Given the description of an element on the screen output the (x, y) to click on. 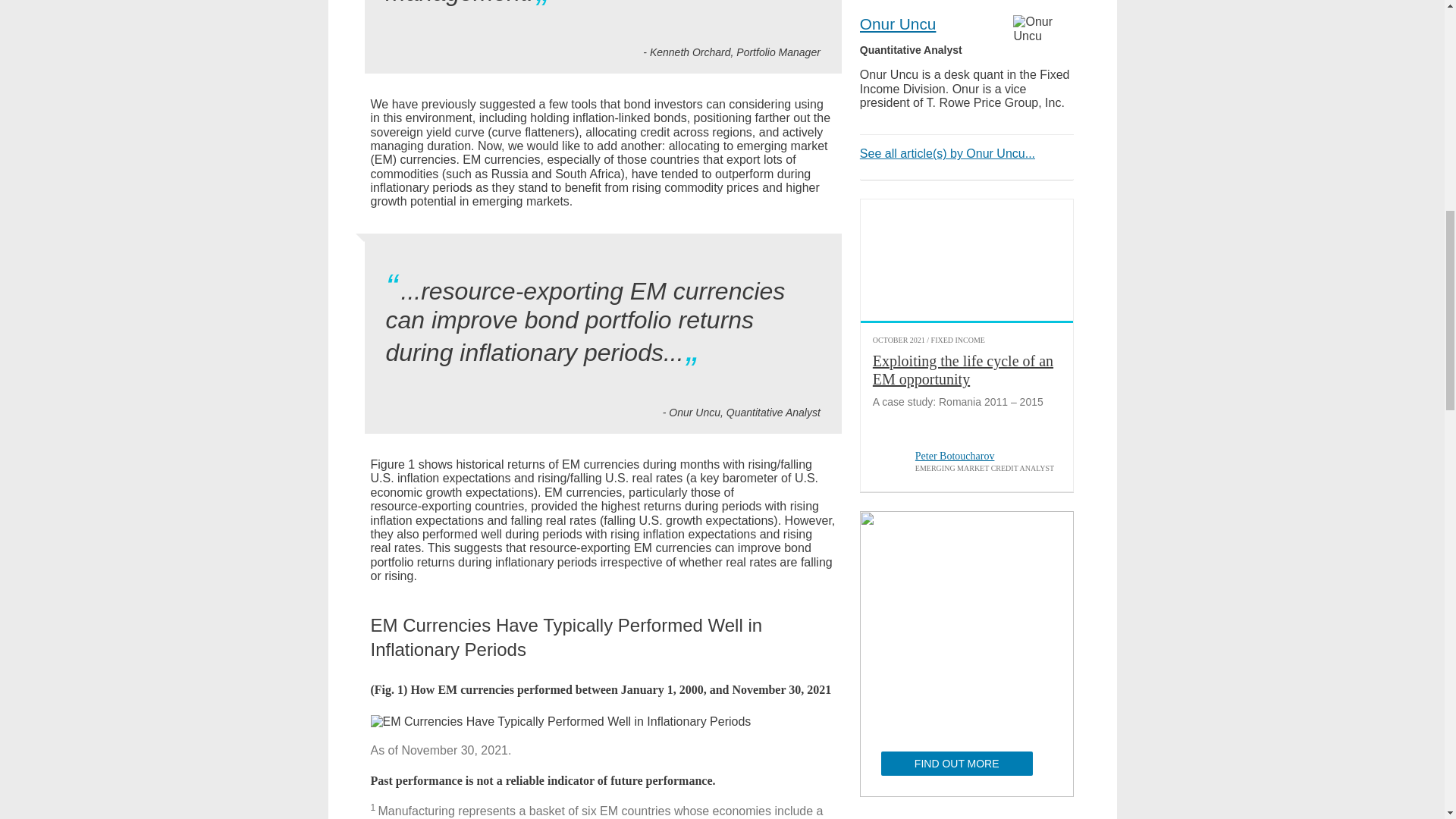
Peter Botoucharov (887, 463)
Onur Uncu (1043, 29)
